Given the description of an element on the screen output the (x, y) to click on. 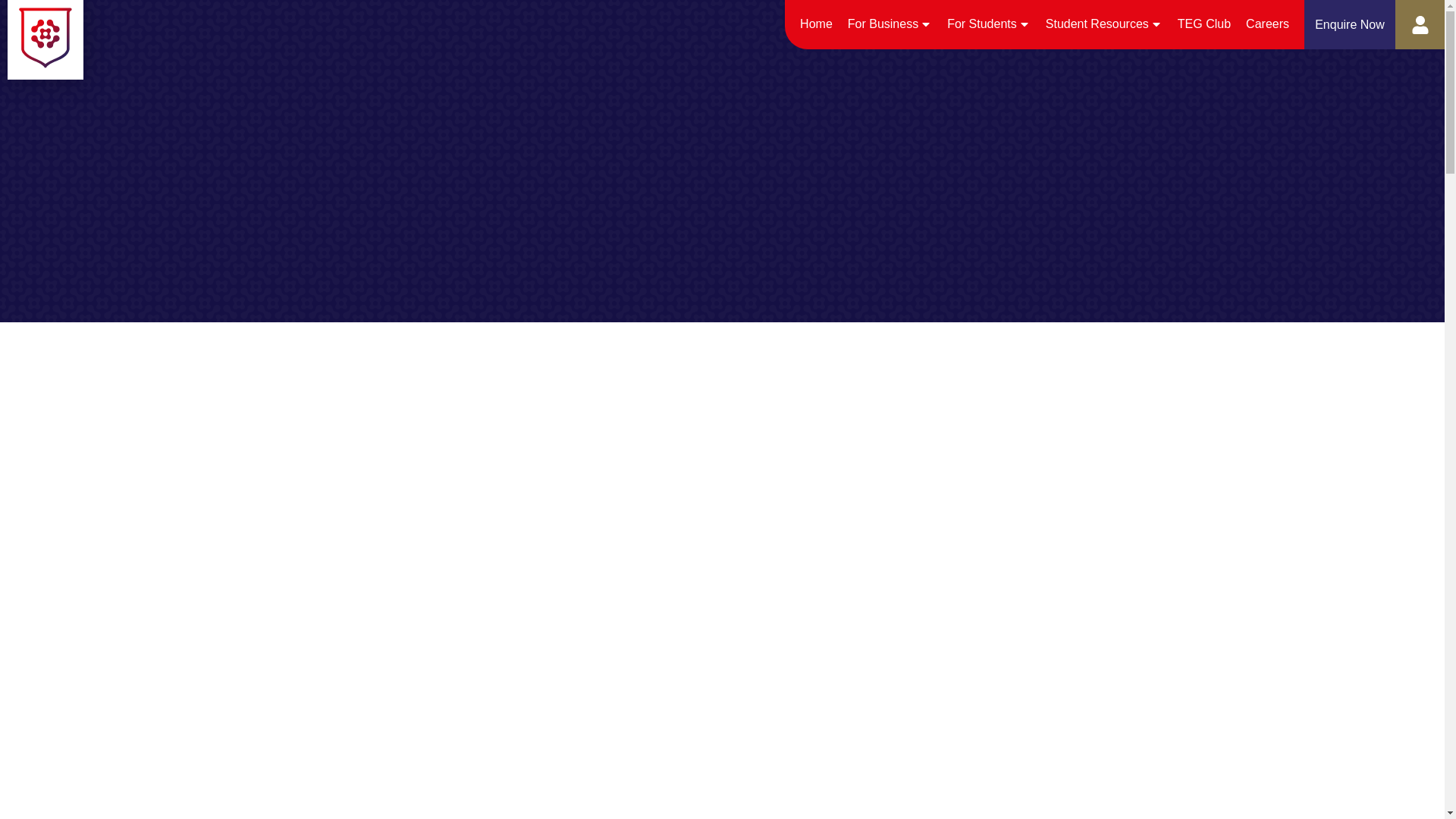
Home (815, 23)
Enquire Now (1349, 24)
Student Resources (1103, 23)
For Students (988, 23)
Careers (1267, 23)
TEG Club (1203, 23)
For Business (889, 23)
